Given the description of an element on the screen output the (x, y) to click on. 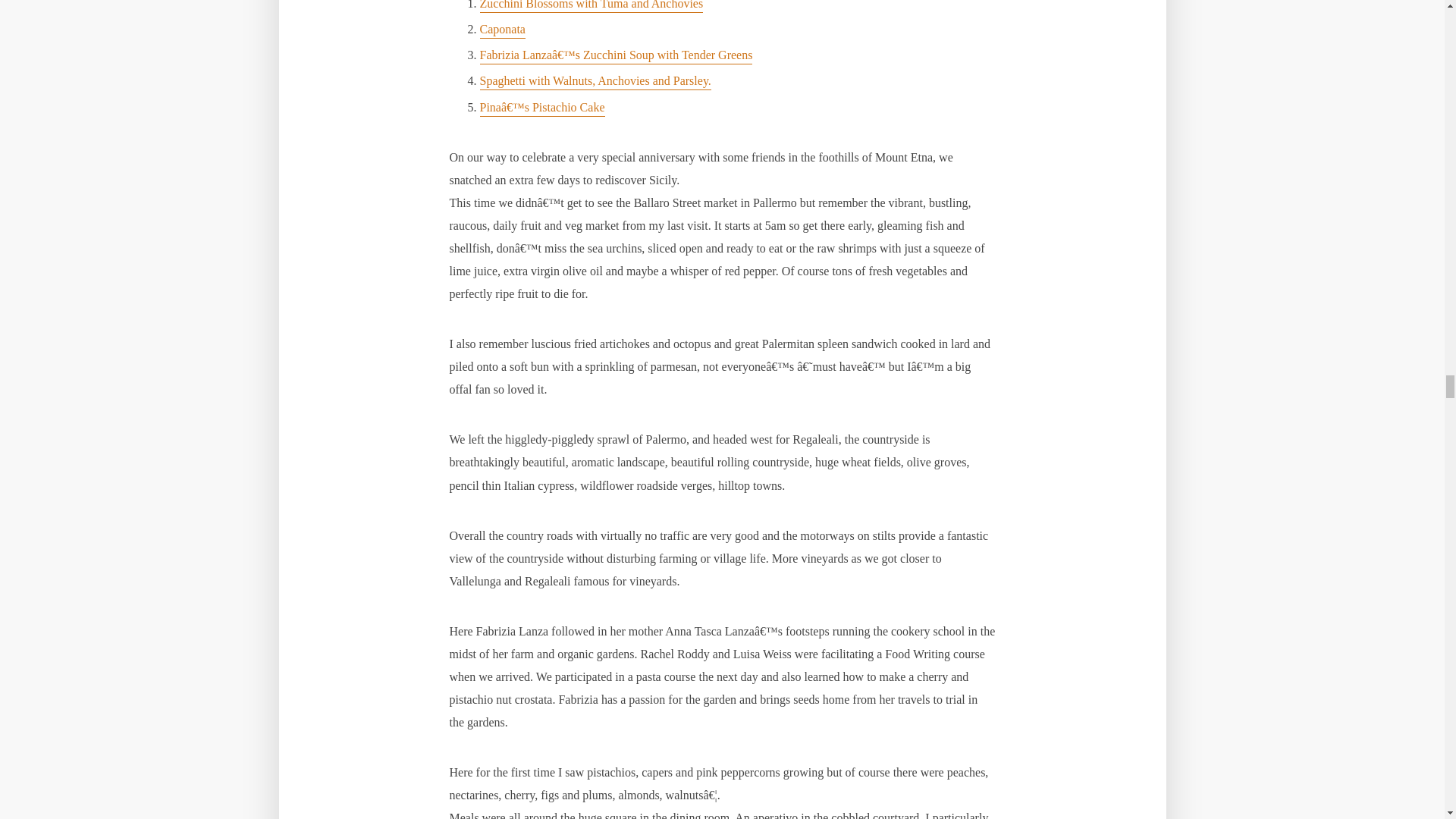
Caponata (501, 30)
Zucchini Blossoms with Tuma and Anchovies (591, 6)
Spaghetti with Walnuts, Anchovies and Parsley. (594, 82)
